Given the description of an element on the screen output the (x, y) to click on. 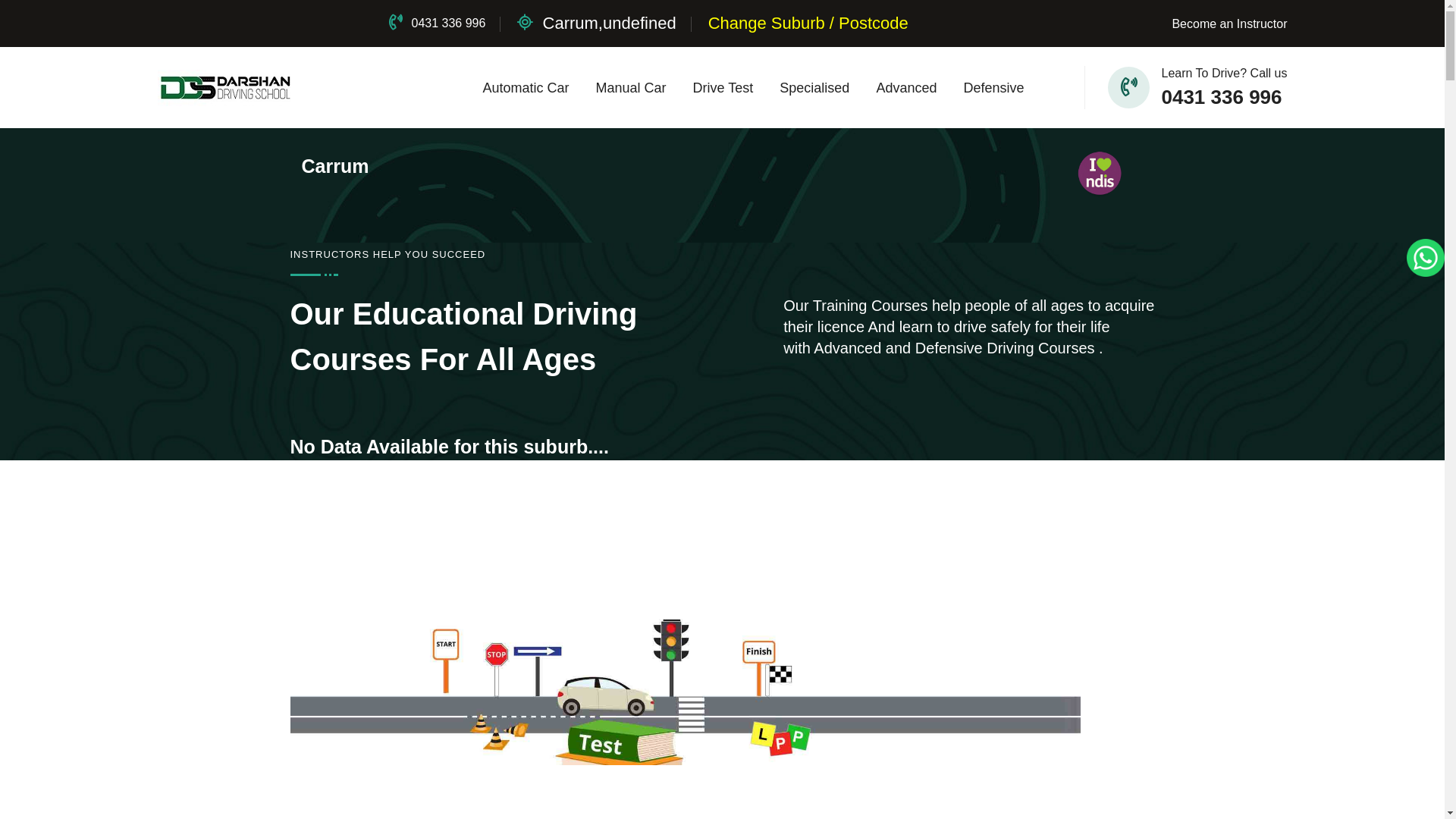
Defensive Element type: text (993, 87)
Drive Test Element type: text (723, 87)
Become an Instructor Element type: text (1228, 22)
0431 336 996 Element type: text (437, 22)
Automatic Car Element type: text (526, 87)
Learn To Drive? Call us
0431 336 996 Element type: text (1173, 87)
Specialised Element type: text (814, 87)
Advanced Element type: text (905, 87)
Manual Car Element type: text (631, 87)
